Given the description of an element on the screen output the (x, y) to click on. 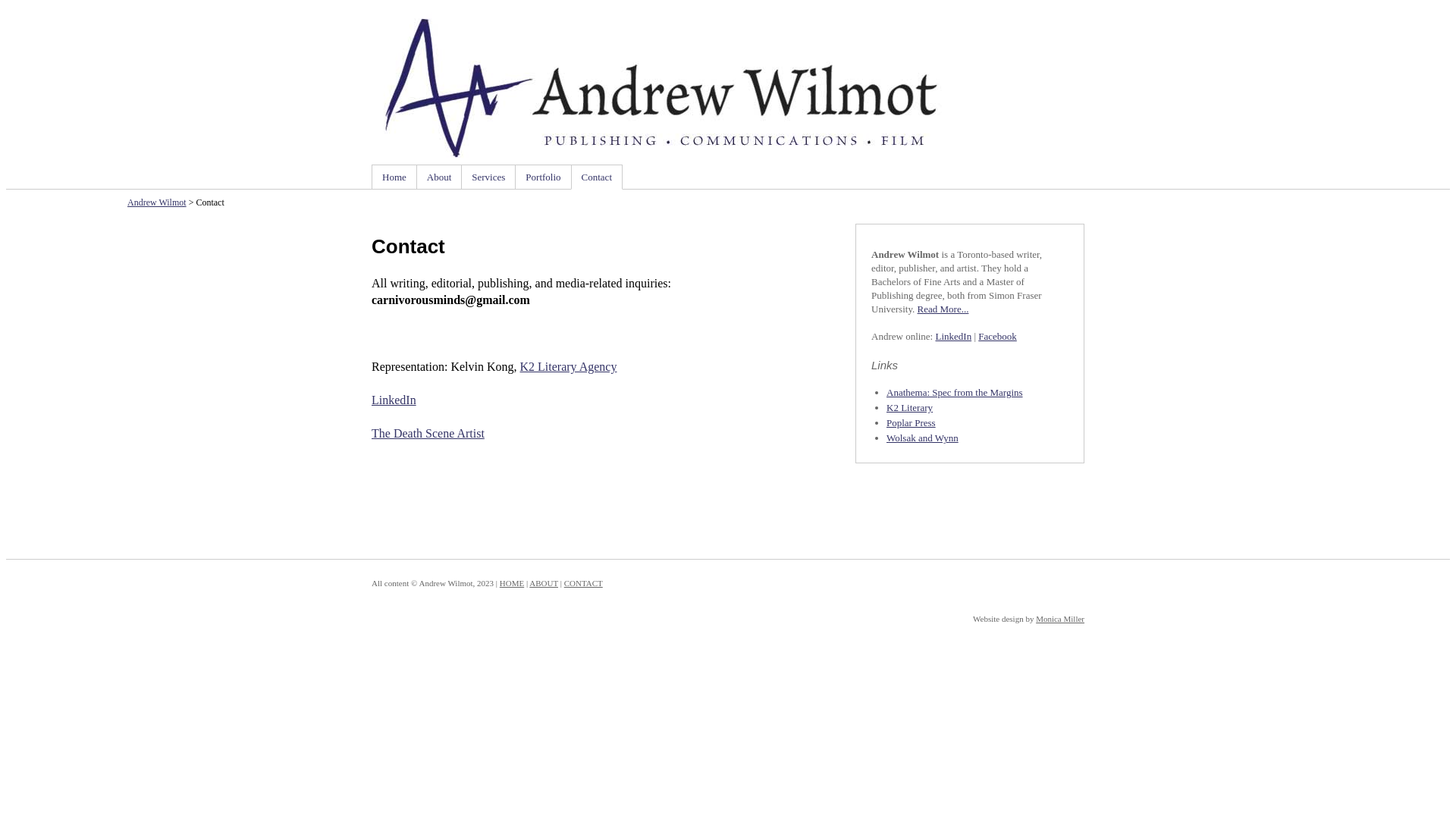
ABOUT Element type: text (543, 582)
Monica Miller Element type: text (1059, 618)
LinkedIn Element type: text (393, 399)
Anathema: Spec from the Margins Element type: text (954, 392)
Andrew Wilmot Element type: text (674, 87)
Contact Element type: text (596, 176)
K2 Literary Element type: text (909, 407)
Services Element type: text (488, 176)
Portfolio Element type: text (542, 176)
Andrew Wilmot Element type: text (156, 202)
About Element type: text (439, 176)
Wolsak and Wynn Element type: text (922, 437)
LinkedIn Element type: text (953, 336)
Poplar Press Element type: text (910, 422)
CONTACT Element type: text (583, 582)
K2 Literary Agency Element type: text (568, 366)
Read More... Element type: text (943, 308)
The Death Scene Artist Element type: text (427, 432)
HOME Element type: text (511, 582)
Home Element type: text (394, 176)
Facebook Element type: text (997, 336)
